Given the description of an element on the screen output the (x, y) to click on. 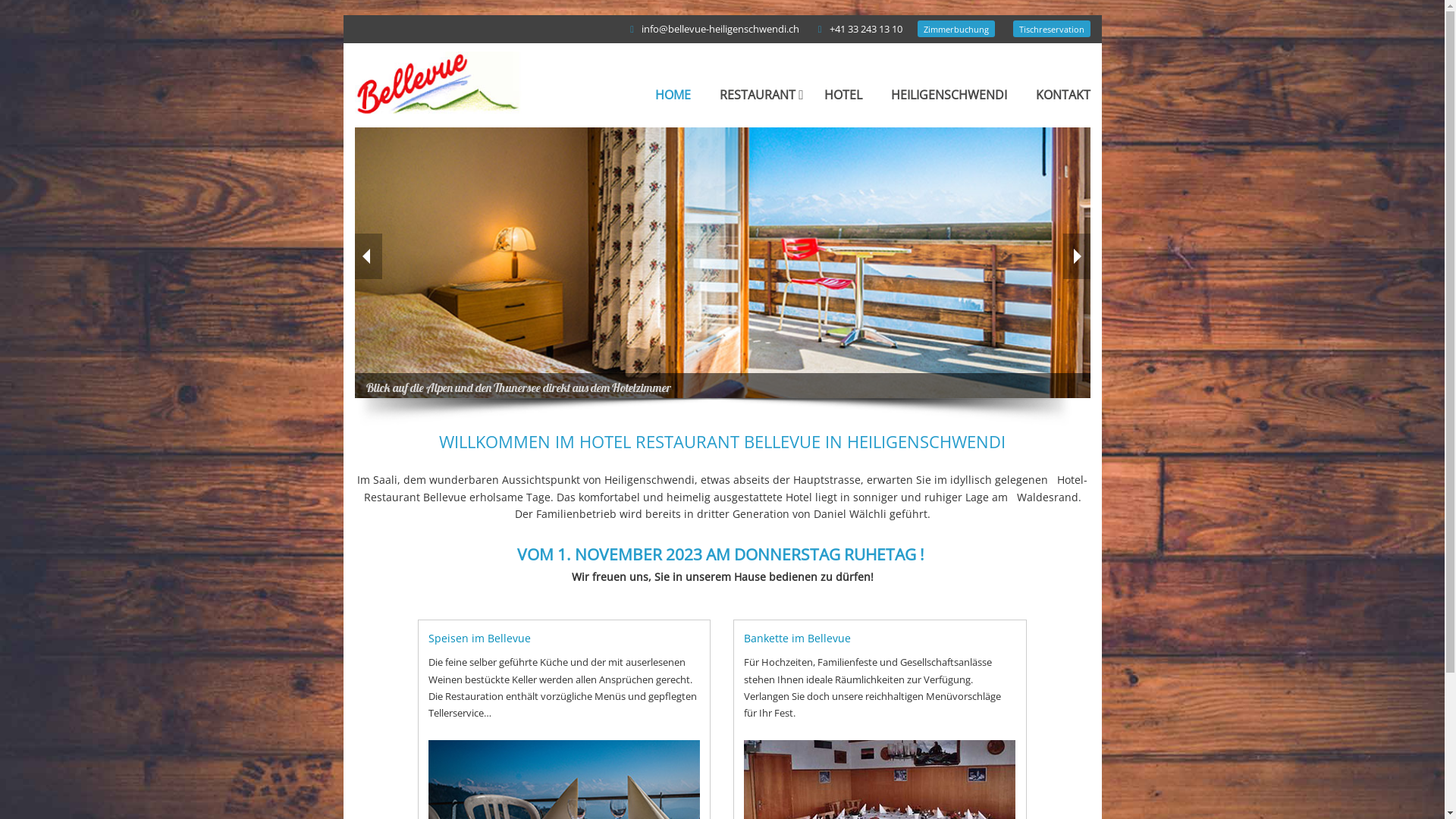
Zimmerbuchung Element type: text (955, 28)
KONTAKT Element type: text (1062, 94)
HEILIGENSCHWENDI Element type: text (948, 94)
Speisen im Bellevue Element type: text (564, 638)
HOTEL Element type: text (842, 94)
Bankette im Bellevue Element type: text (879, 638)
HOME Element type: text (672, 94)
RESTAURANT Element type: text (756, 94)
Tischreservation Element type: text (1051, 28)
